Given the description of an element on the screen output the (x, y) to click on. 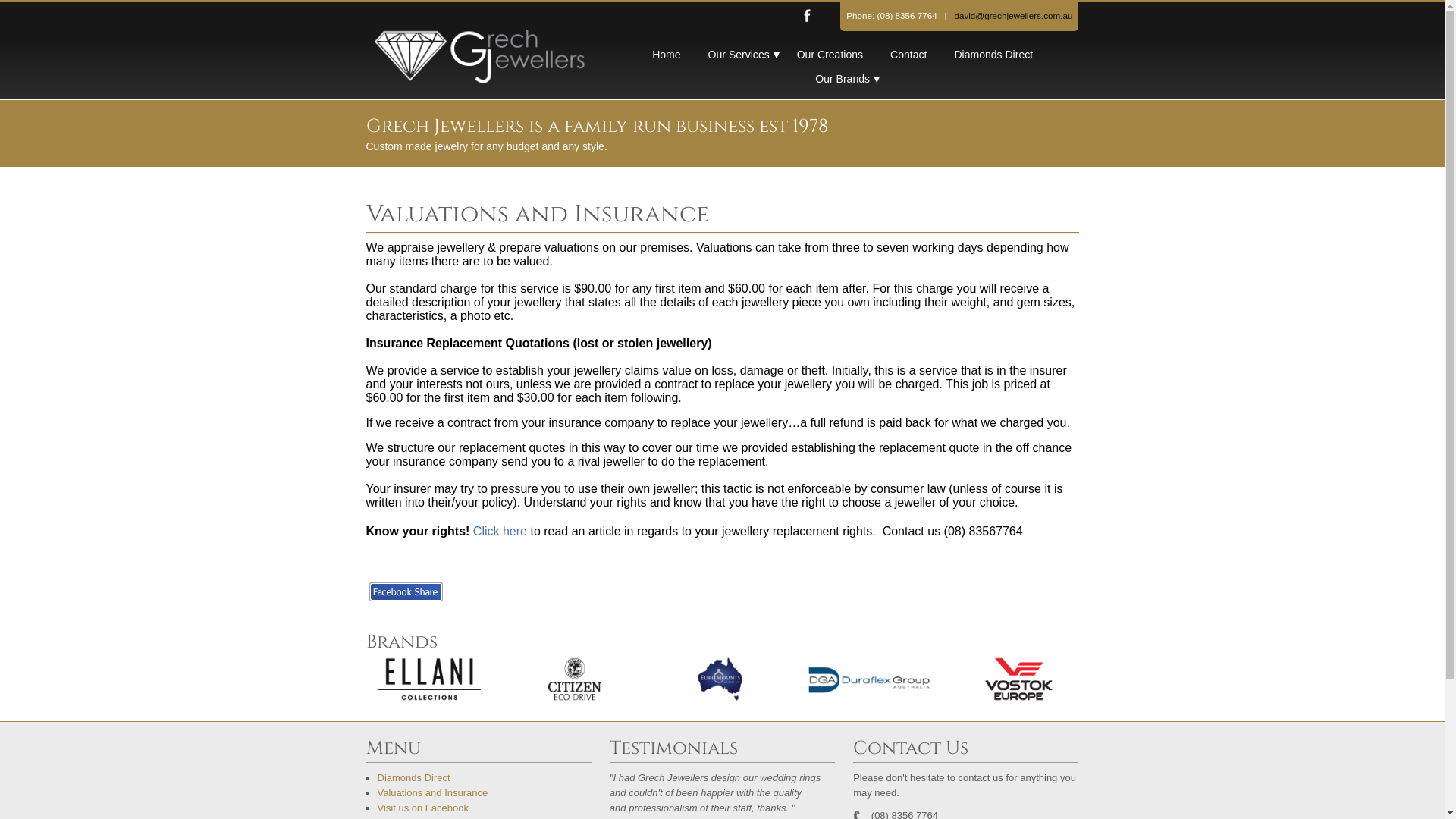
Home Element type: text (667, 54)
Contact Element type: text (909, 54)
Click here Element type: text (500, 530)
Valuations and Insurance Element type: text (484, 792)
Facebook Share Element type: hover (405, 591)
david@grechjewellers.com.au Element type: text (1012, 15)
Visit us on Facebook Element type: text (484, 807)
Our Brands Element type: text (843, 78)
Diamonds Direct Element type: text (994, 54)
Our Services Element type: text (740, 54)
Our Creations Element type: text (831, 54)
Diamonds Direct Element type: text (484, 777)
